Given the description of an element on the screen output the (x, y) to click on. 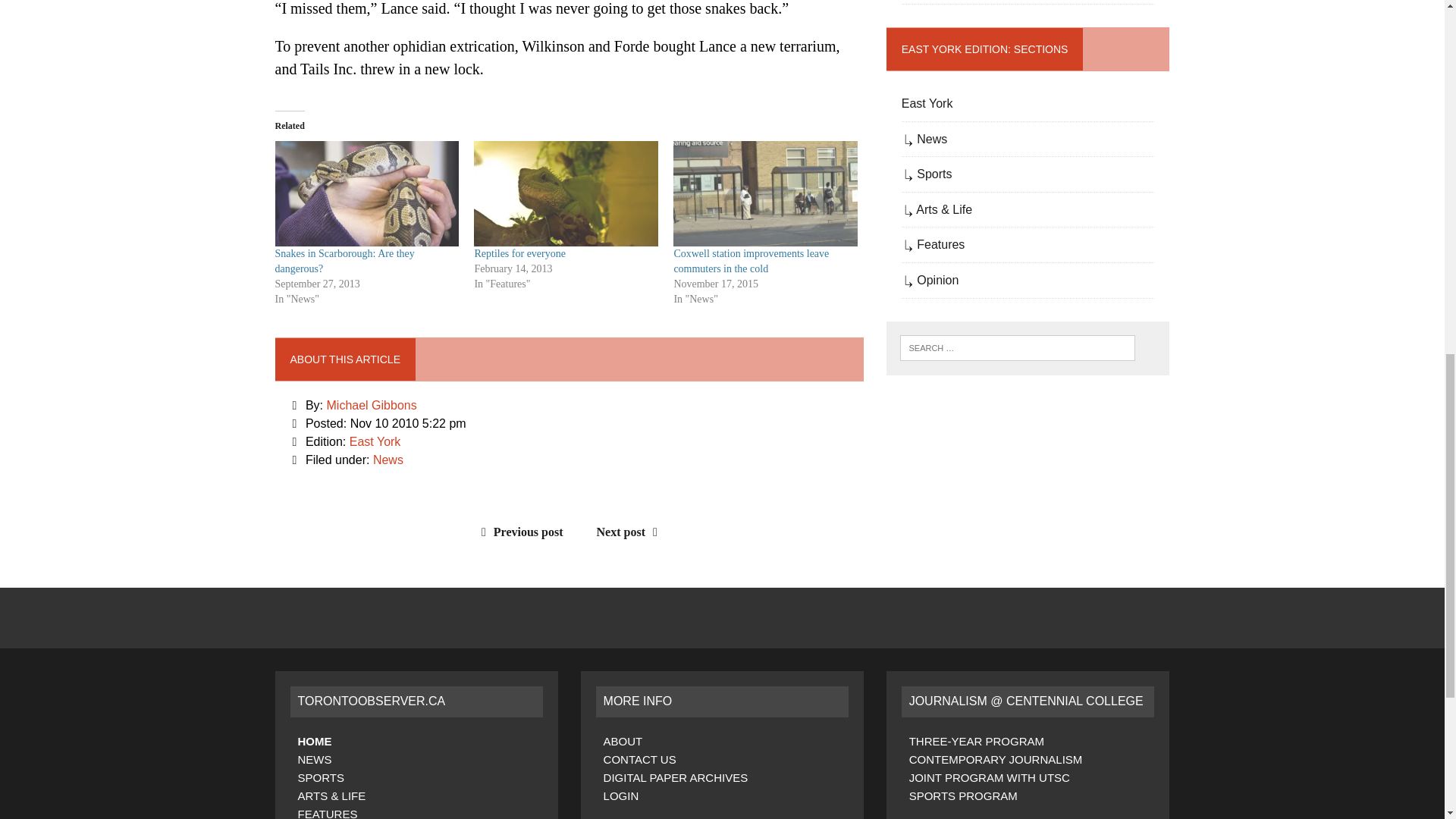
News (314, 758)
Coxwell station improvements leave commuters in the cold (764, 193)
Home (314, 740)
Snakes in Scarborough: Are they dangerous? (366, 193)
Reptiles for everyone (520, 253)
Snakes in Scarborough: Are they dangerous? (344, 261)
Reptiles for everyone (566, 193)
Michael Gibbons (371, 404)
Coxwell station improvements leave commuters in the cold (750, 261)
Sports (320, 777)
